Given the description of an element on the screen output the (x, y) to click on. 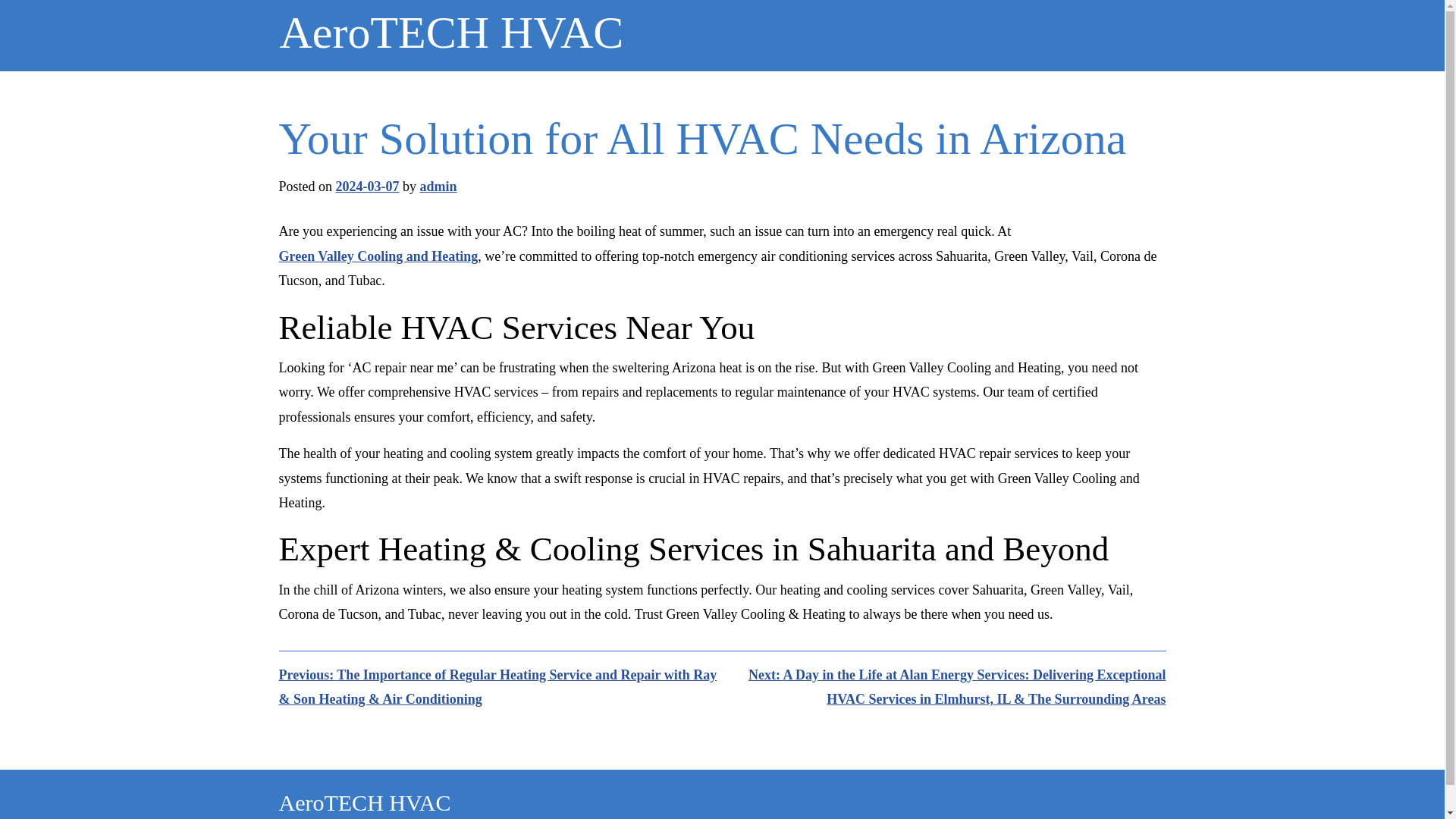
admin (438, 186)
AeroTECH HVAC (365, 802)
AeroTECH HVAC (451, 32)
2024-03-07 (367, 186)
Green Valley Cooling and Heating (379, 256)
